Given the description of an element on the screen output the (x, y) to click on. 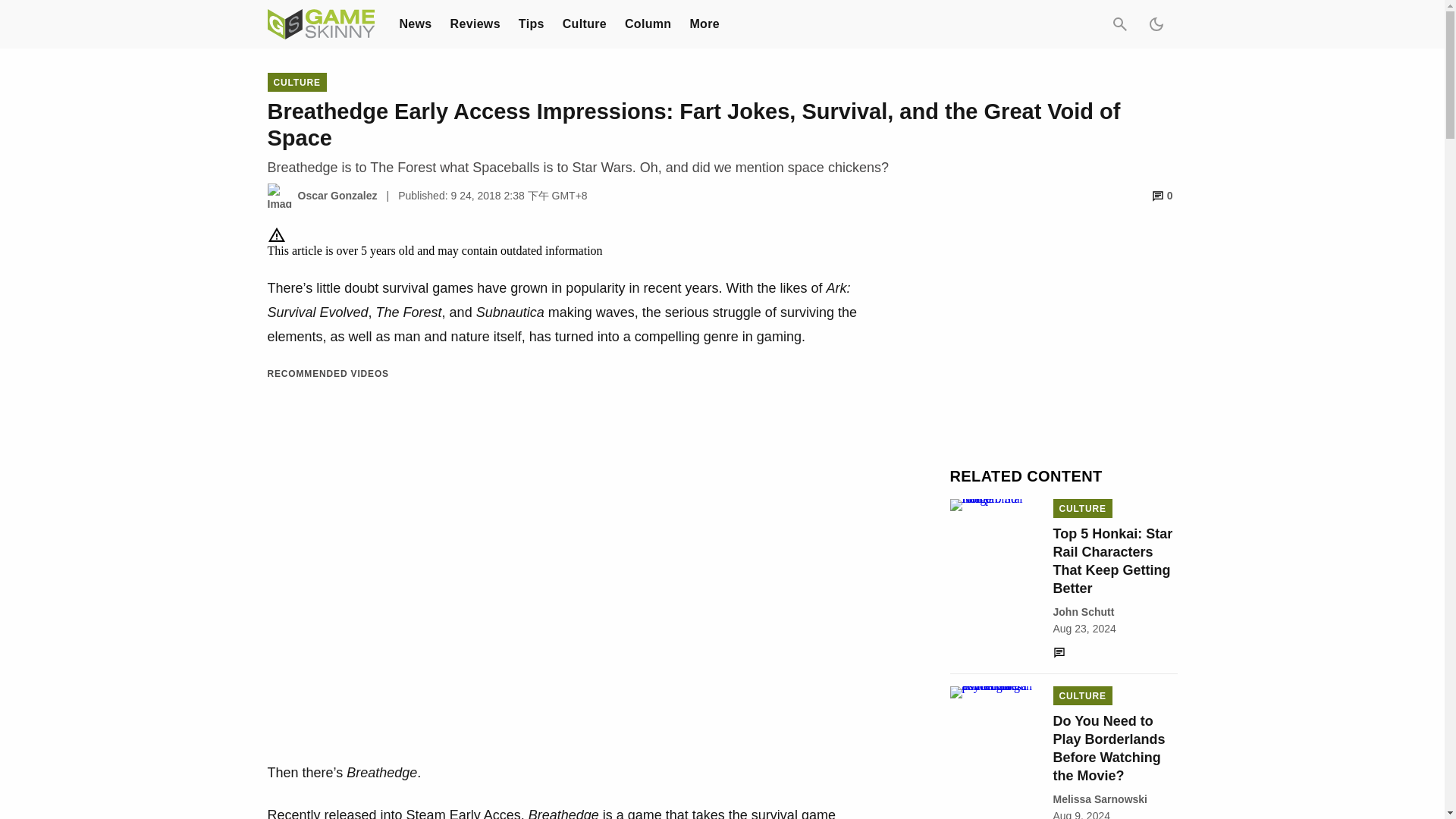
Reviews (474, 23)
Culture (584, 23)
Search (1118, 24)
Tips (531, 23)
Dark Mode (1155, 24)
News (414, 23)
Column (647, 23)
